Given the description of an element on the screen output the (x, y) to click on. 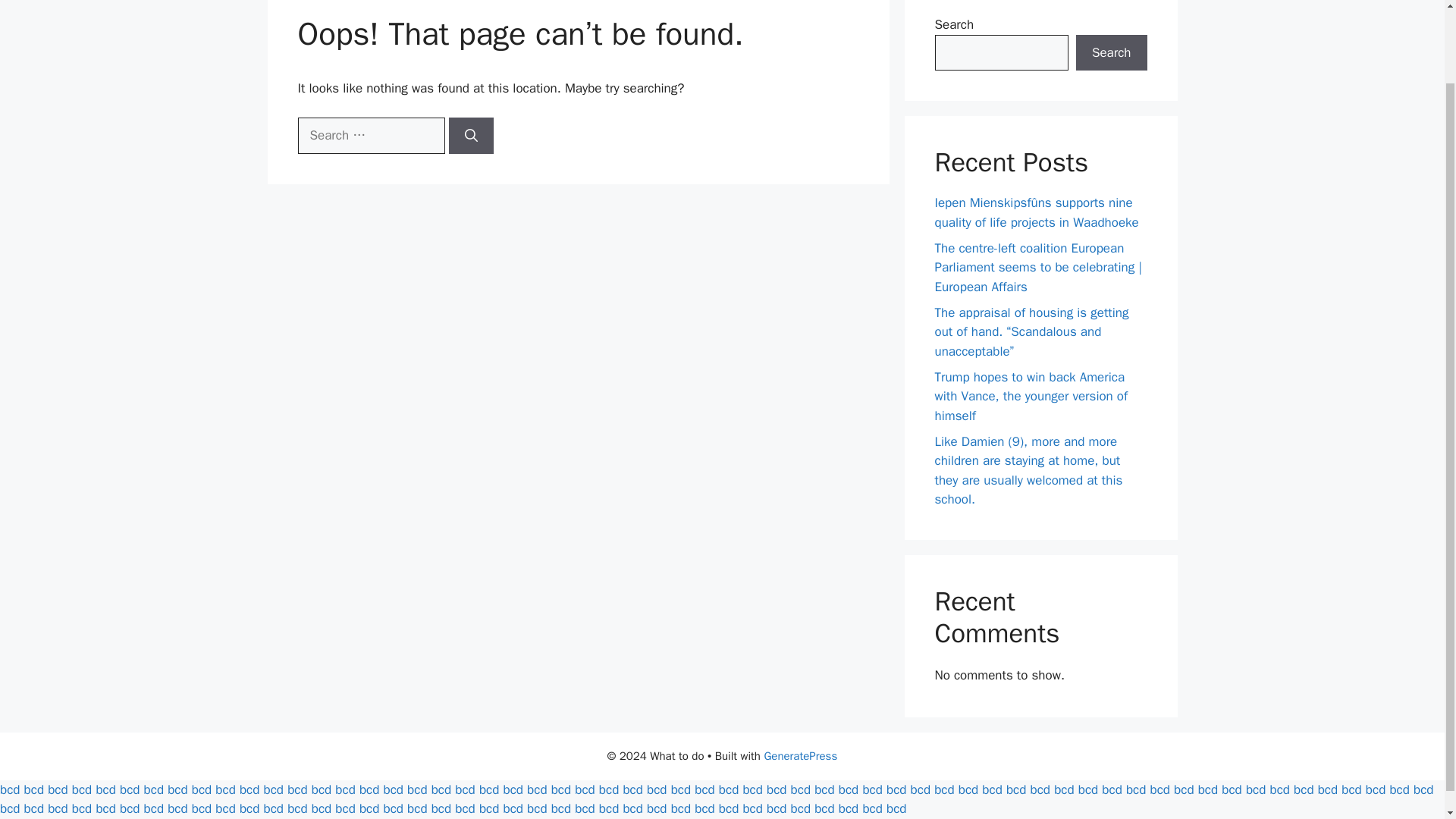
bcd (368, 789)
bcd (273, 789)
Search (1111, 53)
bcd (296, 789)
bcd (393, 789)
bcd (153, 789)
bcd (656, 789)
bcd (201, 789)
bcd (249, 789)
bcd (105, 789)
bcd (440, 789)
bcd (608, 789)
bcd (537, 789)
bcd (33, 789)
